Given the description of an element on the screen output the (x, y) to click on. 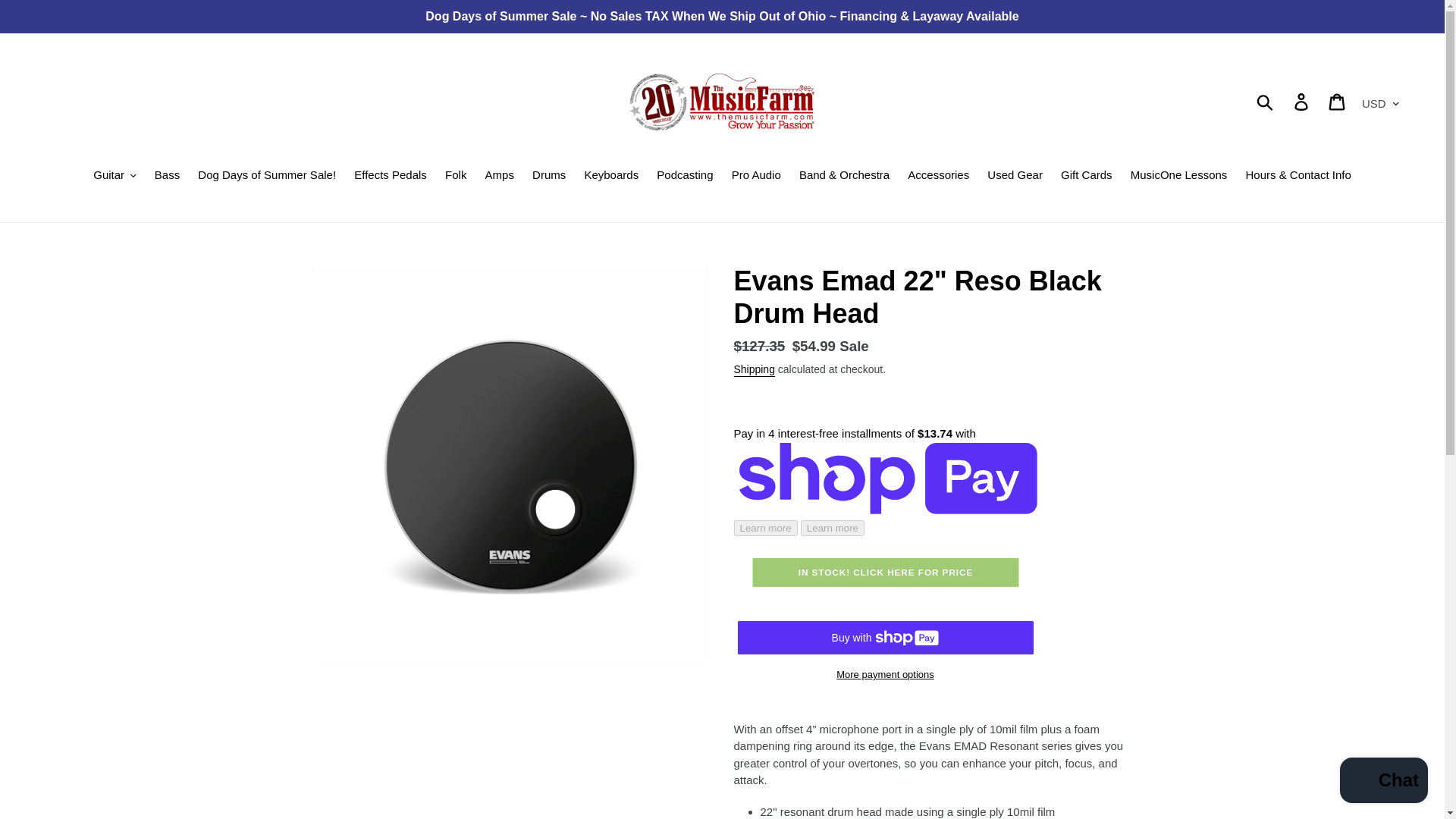
Cart (1337, 101)
Bass (167, 176)
Amps (499, 176)
Shopify online store chat (1383, 781)
Keyboards (611, 176)
Drums (548, 176)
Submit (1265, 101)
Dog Days of Summer Sale! (266, 176)
Podcasting (684, 176)
Effects Pedals (389, 176)
